Given the description of an element on the screen output the (x, y) to click on. 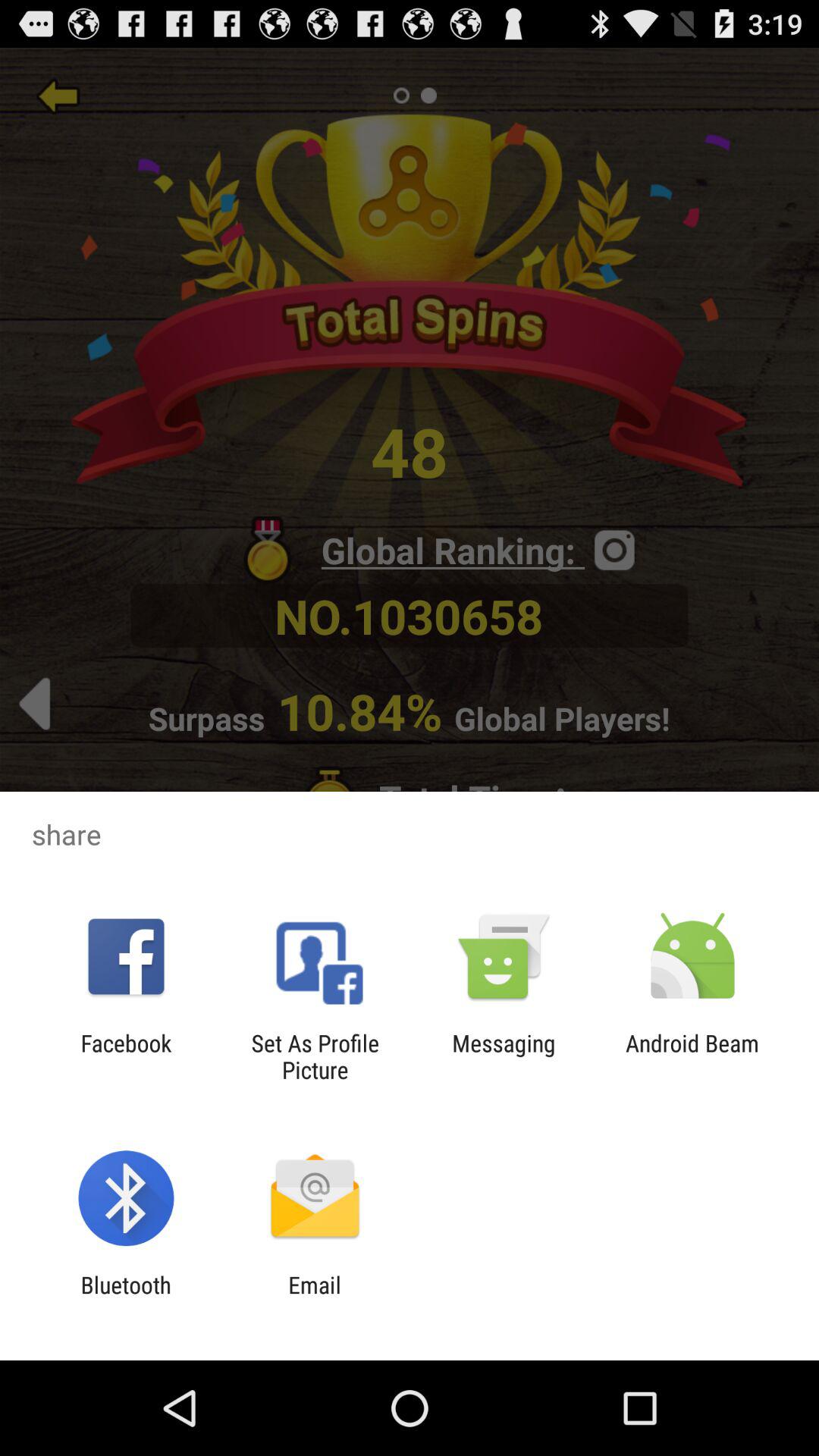
turn on the android beam (692, 1056)
